Given the description of an element on the screen output the (x, y) to click on. 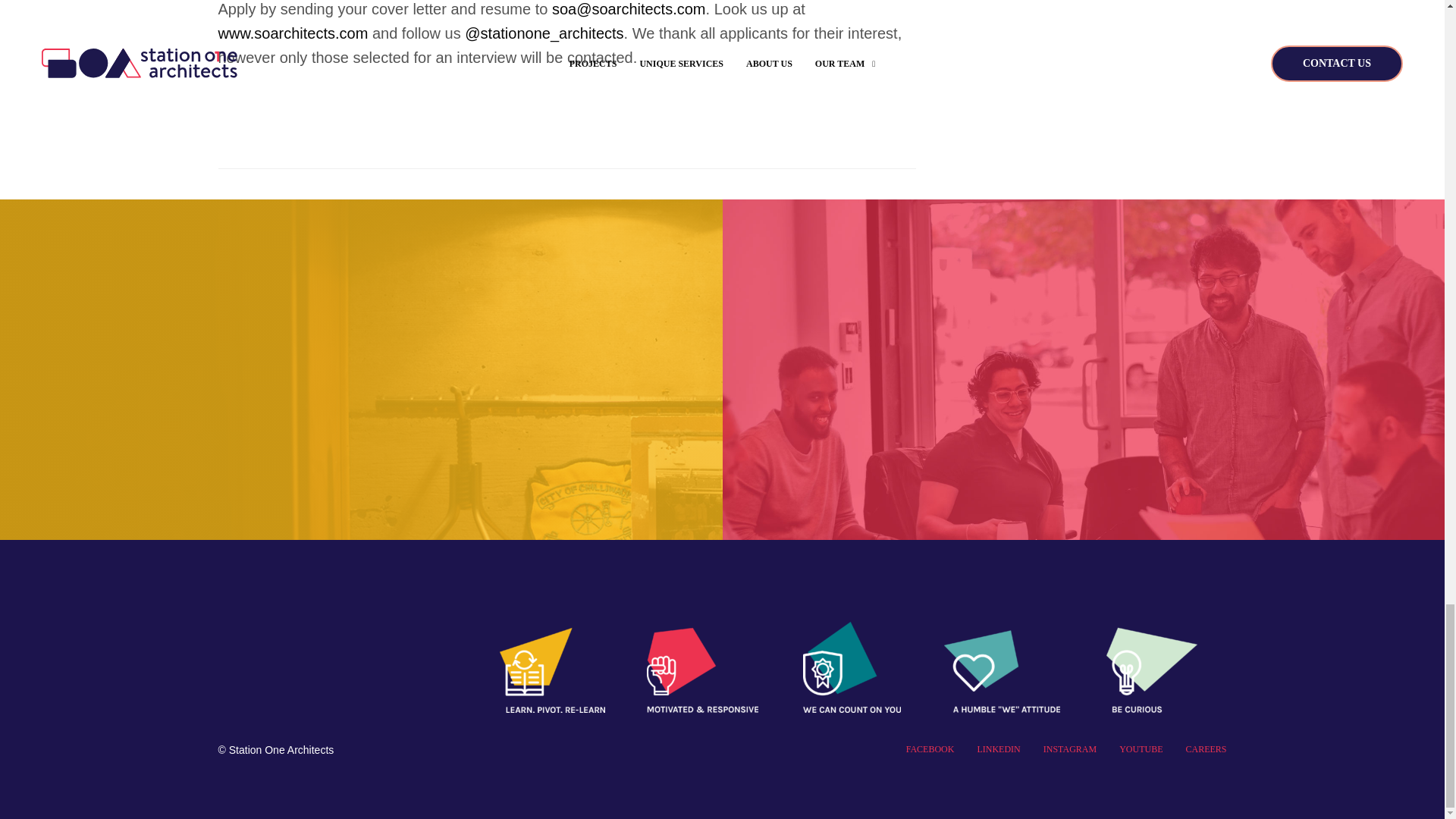
www.soarchitects.com (293, 33)
LINKEDIN (998, 748)
be curious (1151, 666)
we can count on you (852, 666)
INSTAGRAM (1069, 748)
learn, pivot, re-learn (552, 666)
a humble "we" attitude (1001, 666)
FACEBOOK (930, 748)
